Given the description of an element on the screen output the (x, y) to click on. 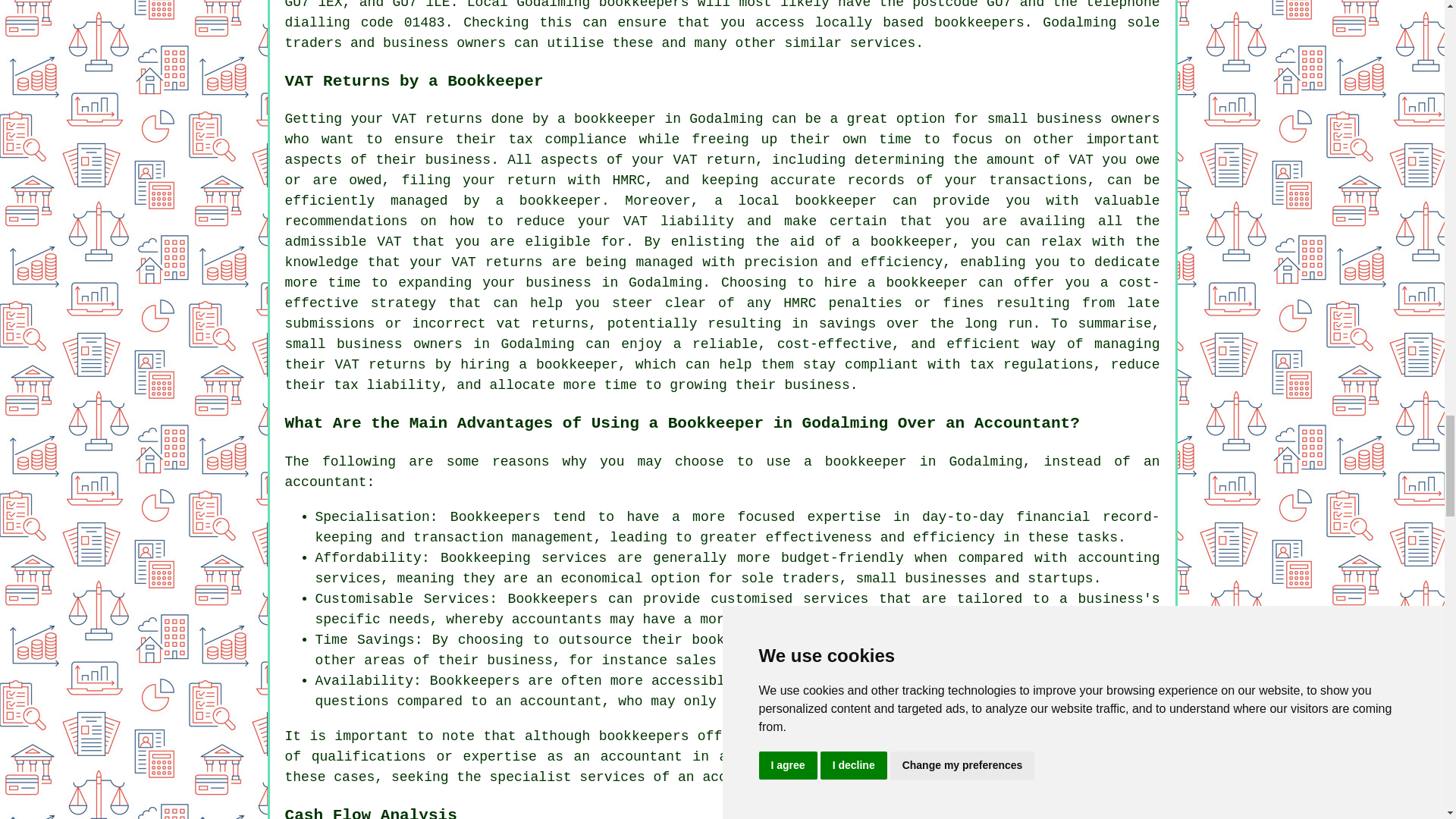
bookkeepers (643, 735)
accountant (640, 756)
a bookkeeper (547, 200)
bookkeepers (979, 22)
bookkeepers (643, 4)
